Given the description of an element on the screen output the (x, y) to click on. 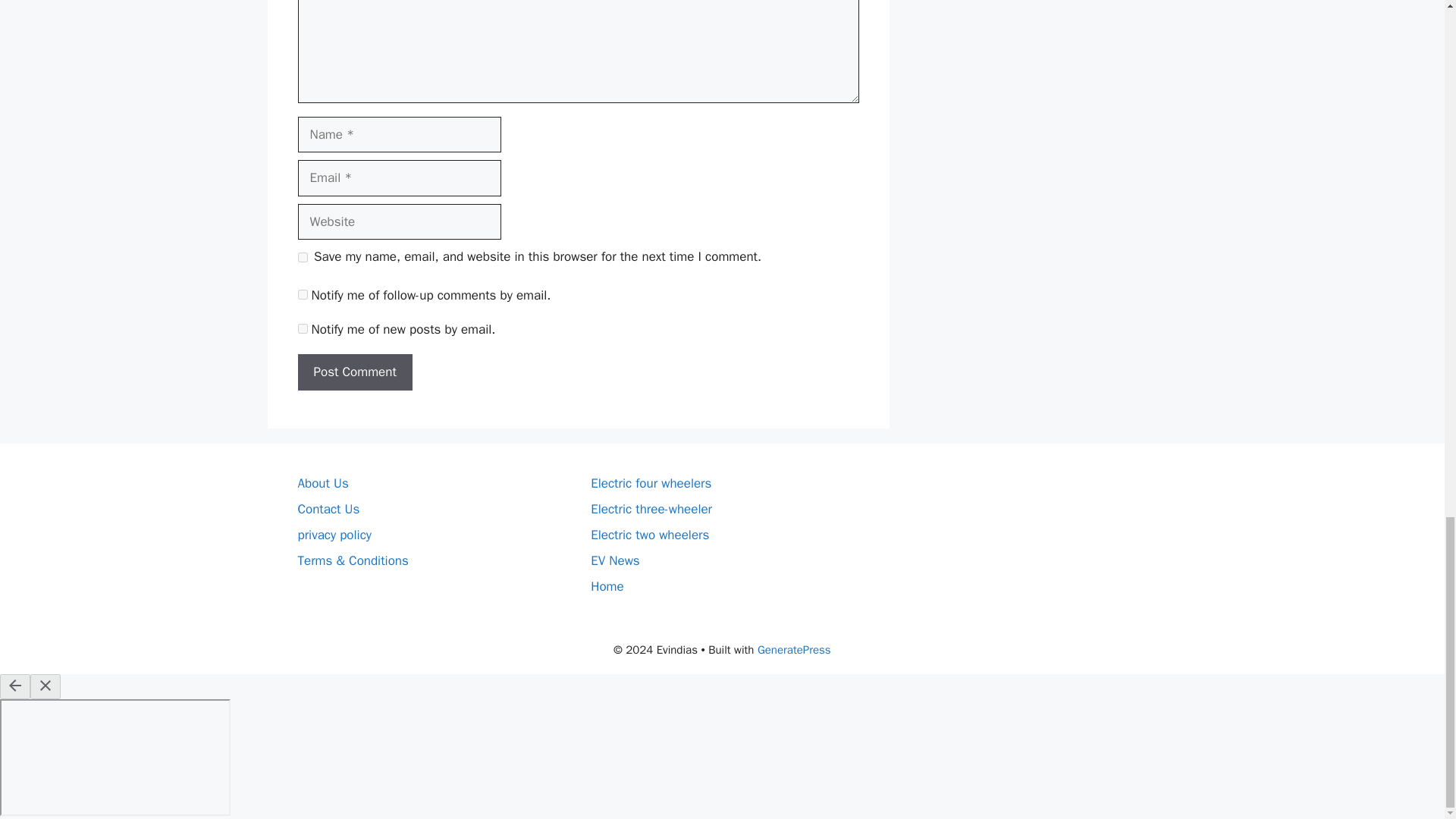
yes (302, 257)
Post Comment (354, 371)
subscribe (302, 328)
Post Comment (354, 371)
privacy policy (334, 534)
Contact Us (328, 508)
Electric three-wheeler (651, 508)
Electric two wheelers (650, 534)
EV News (615, 560)
subscribe (302, 294)
About Us (322, 483)
Electric four wheelers (651, 483)
